Given the description of an element on the screen output the (x, y) to click on. 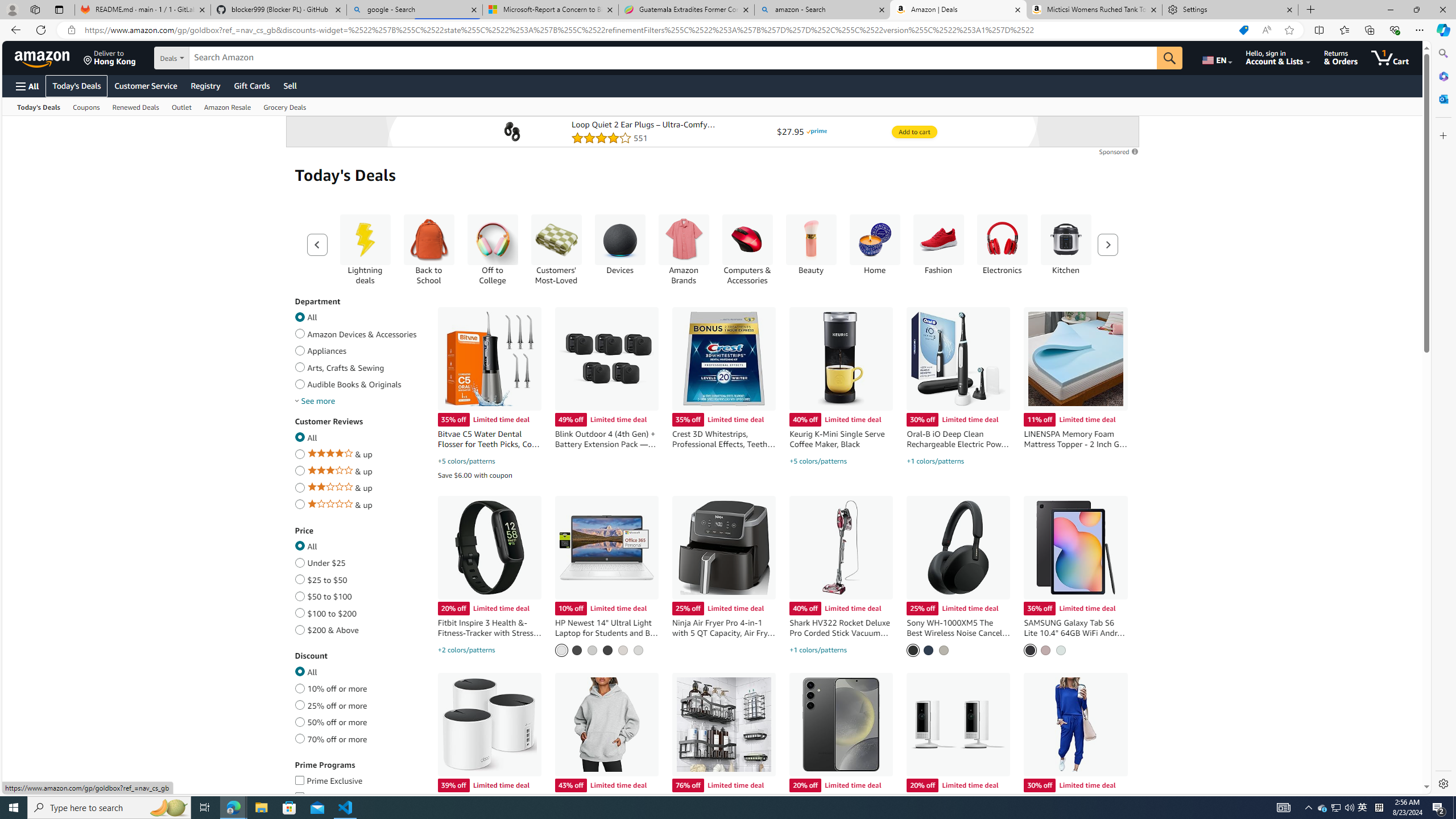
Average review star rating of 3 and up (299, 469)
+1 colors/patterns (818, 650)
Today's Deals (38, 106)
Electronics (1002, 249)
Oxford Gray (1029, 649)
Search in (210, 58)
Devices Devices (619, 244)
Go (1169, 57)
Coupons (85, 106)
Back to School (428, 239)
Add to cart (914, 131)
